Given the description of an element on the screen output the (x, y) to click on. 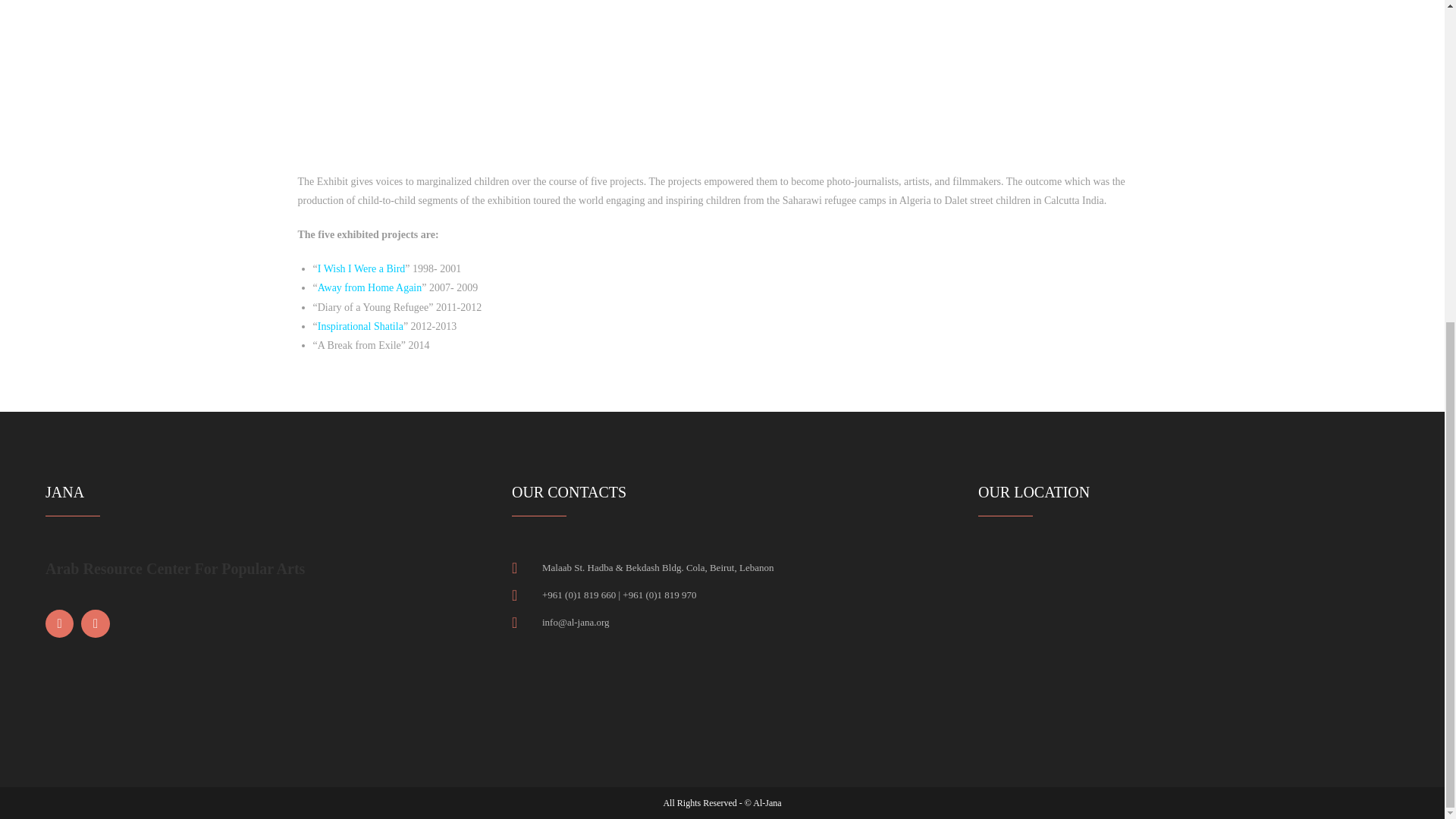
33.8748516965217, 35.496697425842285 (1188, 638)
